Given the description of an element on the screen output the (x, y) to click on. 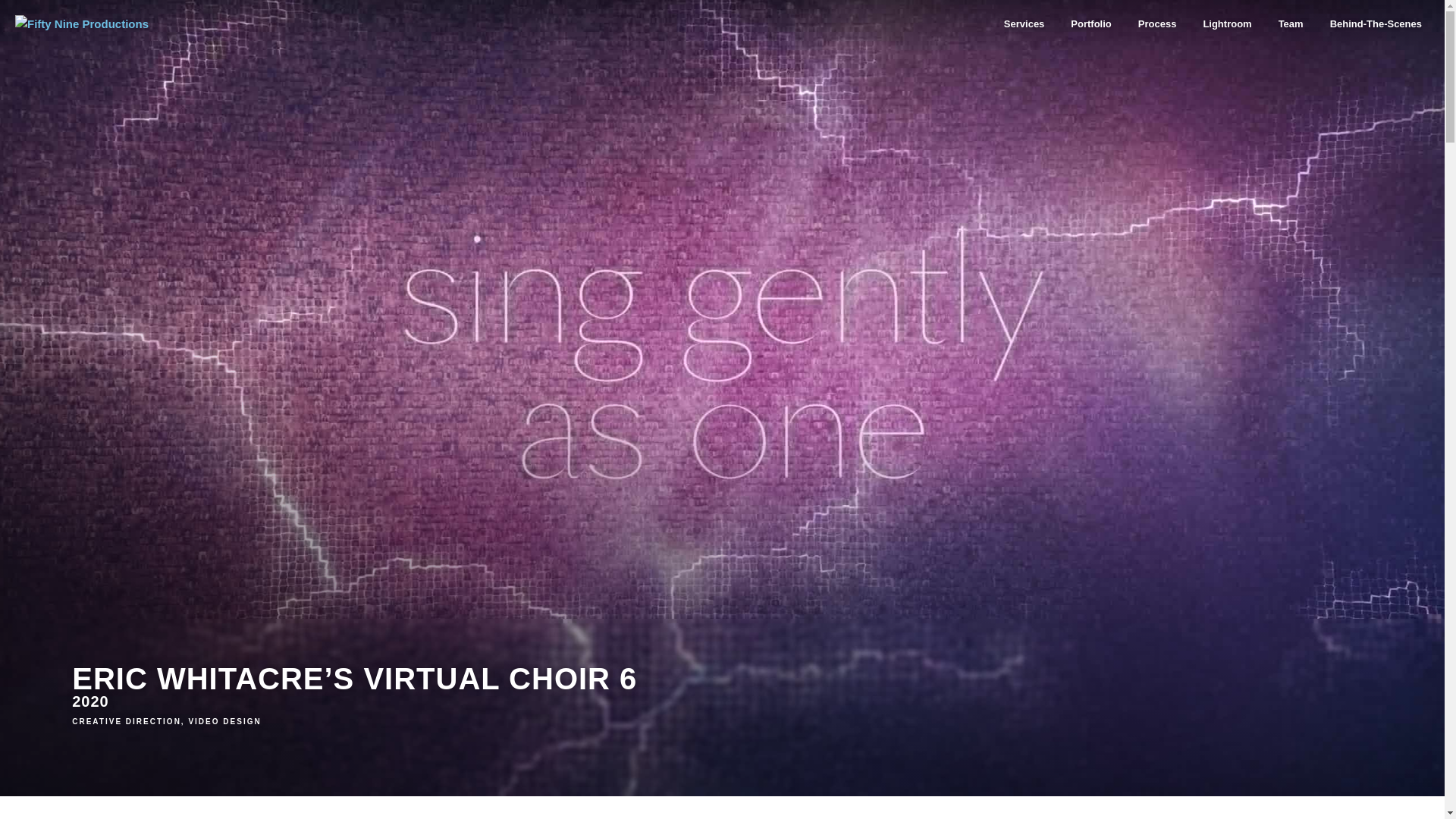
Behind-The-Scenes (1376, 24)
CREATIVE DIRECTION (125, 721)
VIDEO DESIGN (223, 721)
Services (1024, 24)
Lightroom (1226, 24)
Portfolio (1090, 24)
Process (1157, 24)
Team (1290, 24)
